Given the description of an element on the screen output the (x, y) to click on. 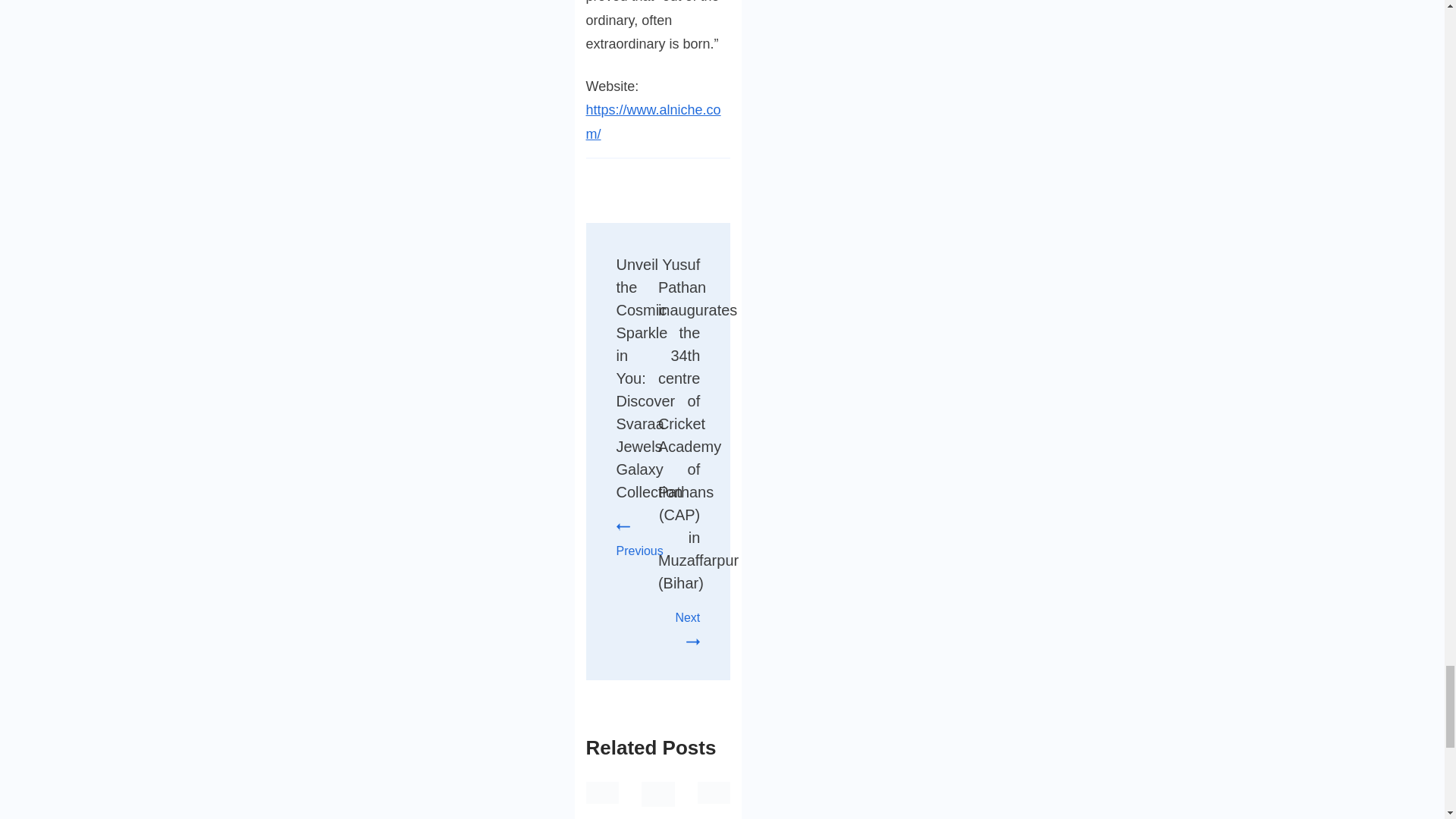
Previous (638, 538)
